Given the description of an element on the screen output the (x, y) to click on. 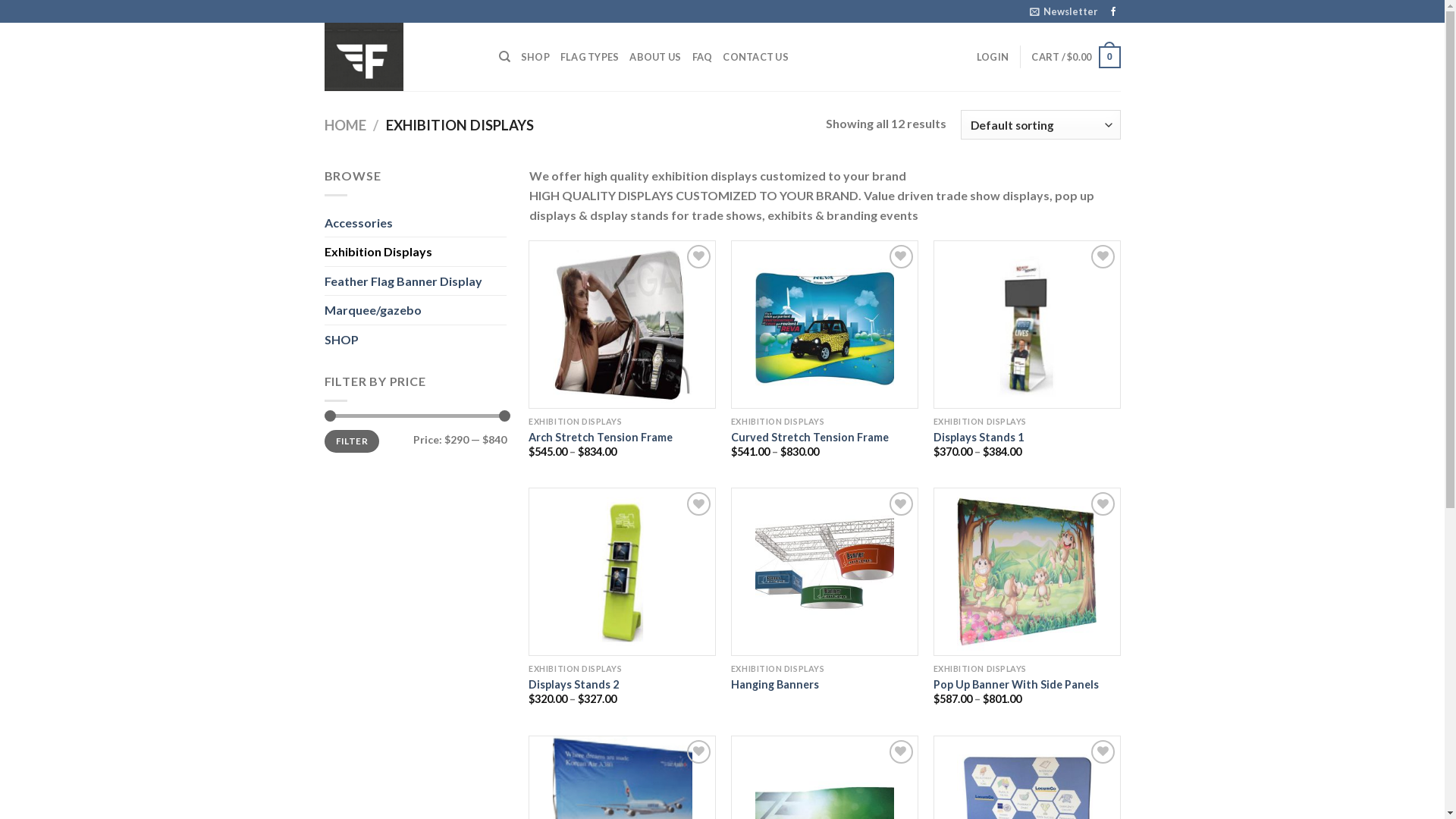
Hanging Banners Element type: text (775, 684)
Accessories Element type: text (415, 222)
FAQ Element type: text (702, 56)
CART / $0.00
0 Element type: text (1075, 57)
Curved Stretch Tension Frame Element type: text (809, 437)
Newsletter Element type: text (1063, 11)
Follow on Facebook Element type: hover (1112, 11)
Exhibition Displays Element type: text (415, 251)
HOME Element type: text (345, 124)
Marquee/gazebo Element type: text (415, 309)
LOGIN Element type: text (992, 56)
Feather Flag Banner Display Element type: text (415, 280)
ABOUT US Element type: text (654, 56)
Arch Stretch Tension Frame Element type: text (600, 437)
FILTER Element type: text (351, 441)
SHOP Element type: text (534, 56)
CONTACT US Element type: text (755, 56)
FLAG TYPES Element type: text (589, 56)
SHOP Element type: text (415, 339)
Displays Stands 2 Element type: text (573, 684)
Pop Up Banner With Side Panels Element type: text (1015, 684)
Feather Flags Online Australia - Feather flags Online Element type: hover (400, 56)
Displays Stands 1 Element type: text (978, 437)
